Given the description of an element on the screen output the (x, y) to click on. 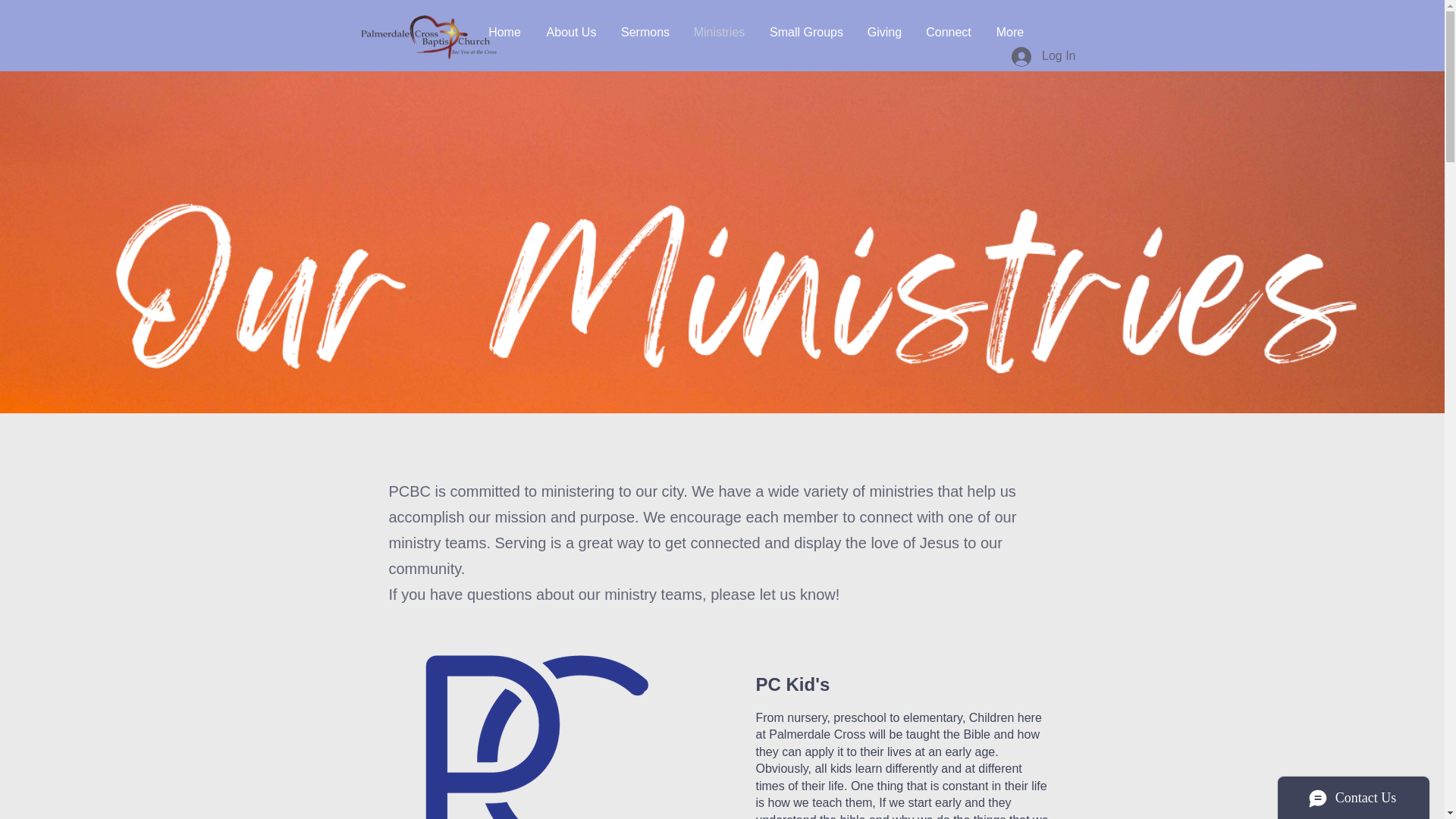
Ministries (719, 32)
Sermons (645, 32)
Connect (949, 32)
Small Groups (806, 32)
Home (504, 32)
Log In (1043, 56)
Giving (885, 32)
About Us (571, 32)
